Given the description of an element on the screen output the (x, y) to click on. 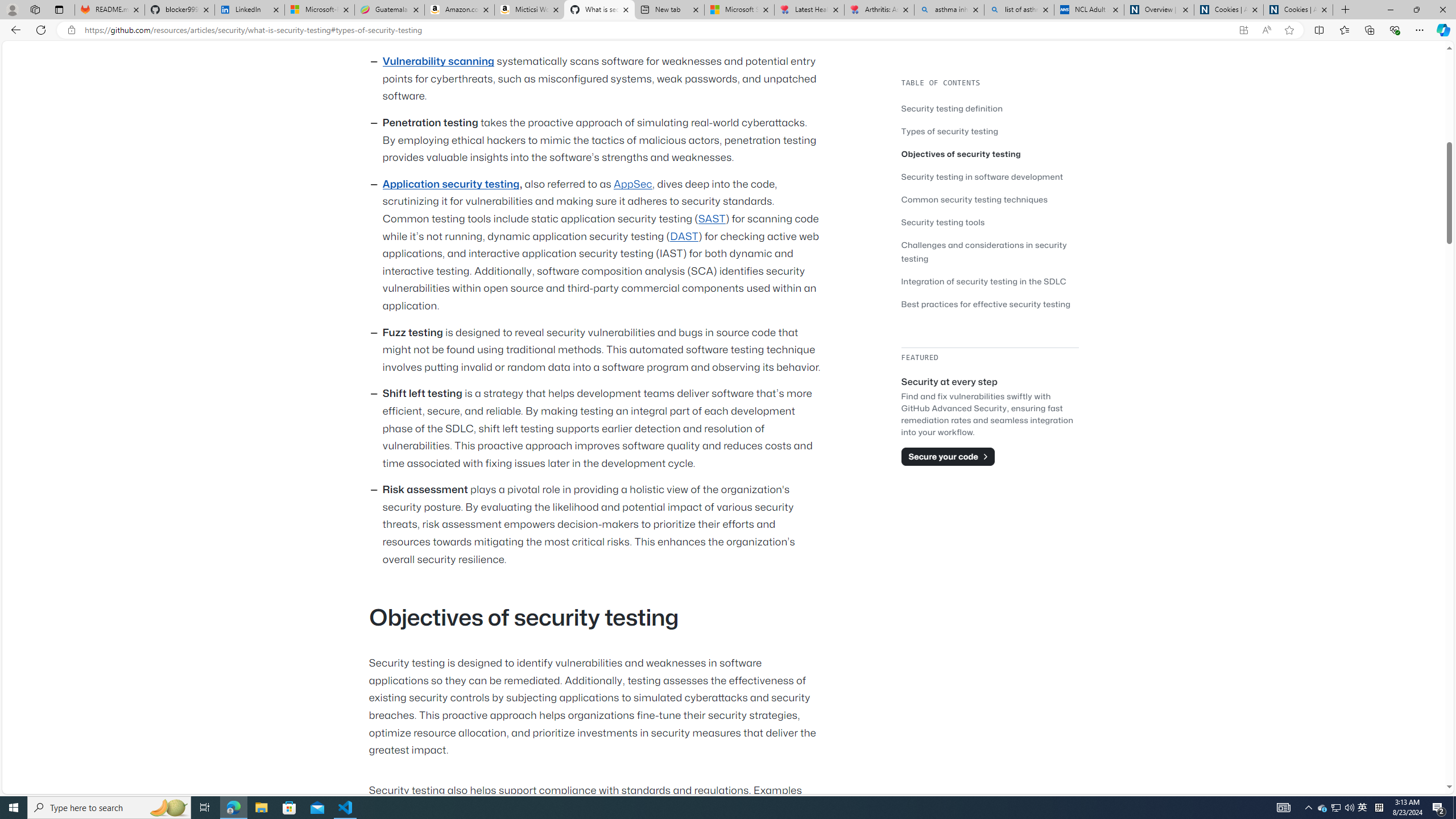
Vulnerability scanning (438, 61)
Types of security testing (949, 130)
Common security testing techniques (989, 199)
Best practices for effective security testing (986, 303)
Objectives of security testing (989, 153)
Security testing in software development (989, 176)
Integration of security testing in the SDLC (989, 281)
Security testing tools (943, 221)
